Given the description of an element on the screen output the (x, y) to click on. 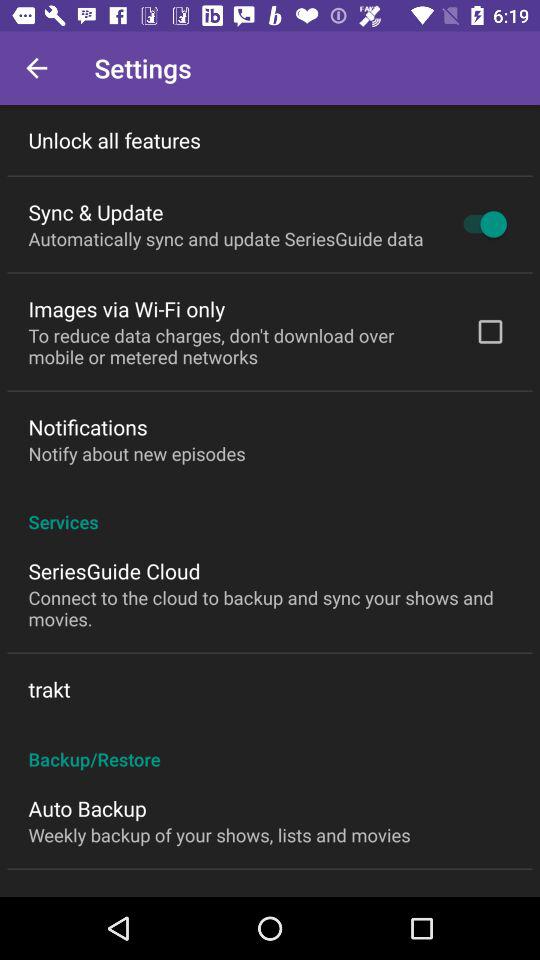
turn off item on the right (490, 331)
